Given the description of an element on the screen output the (x, y) to click on. 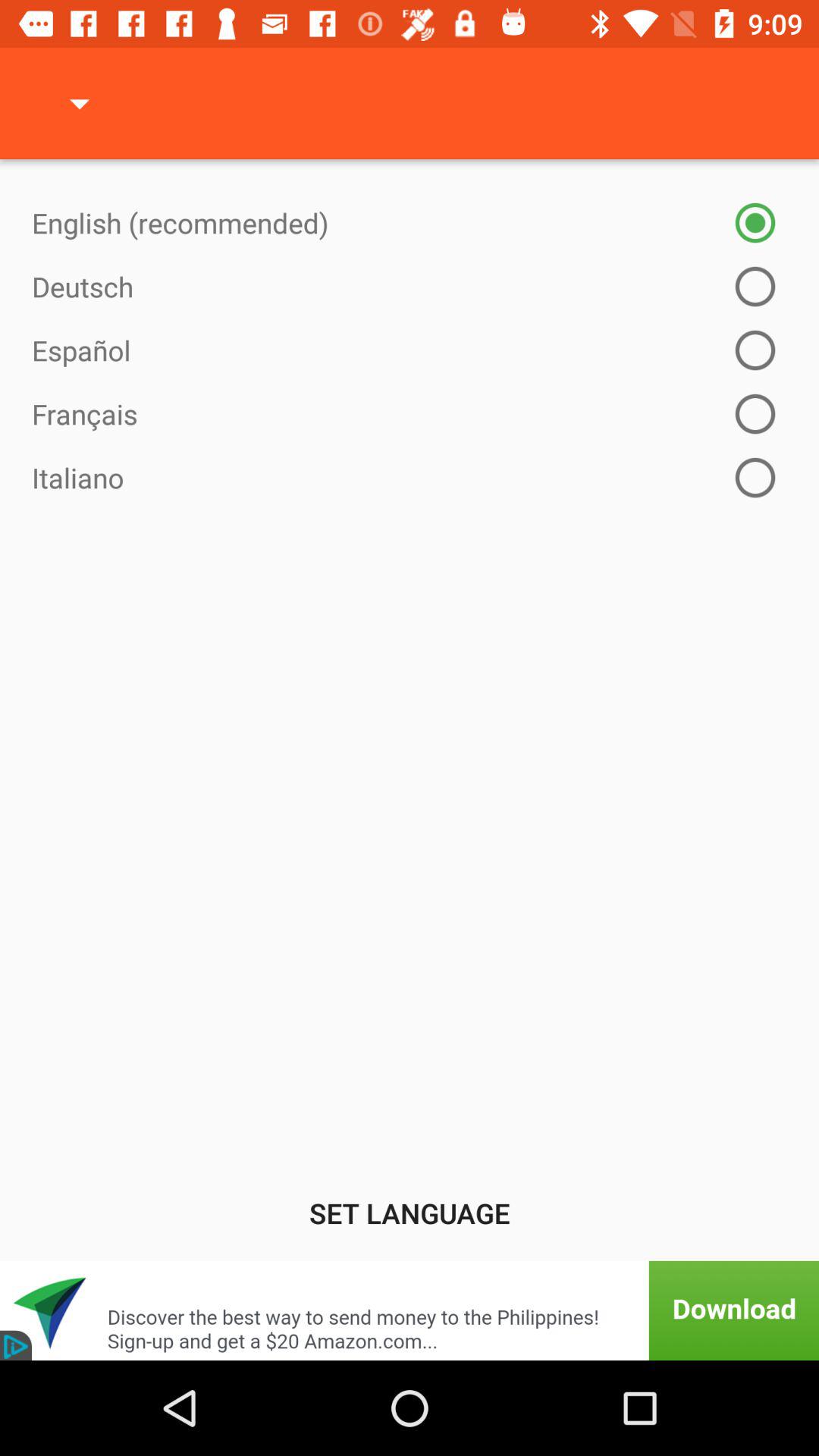
choose the icon above english (recommended) (79, 103)
